Given the description of an element on the screen output the (x, y) to click on. 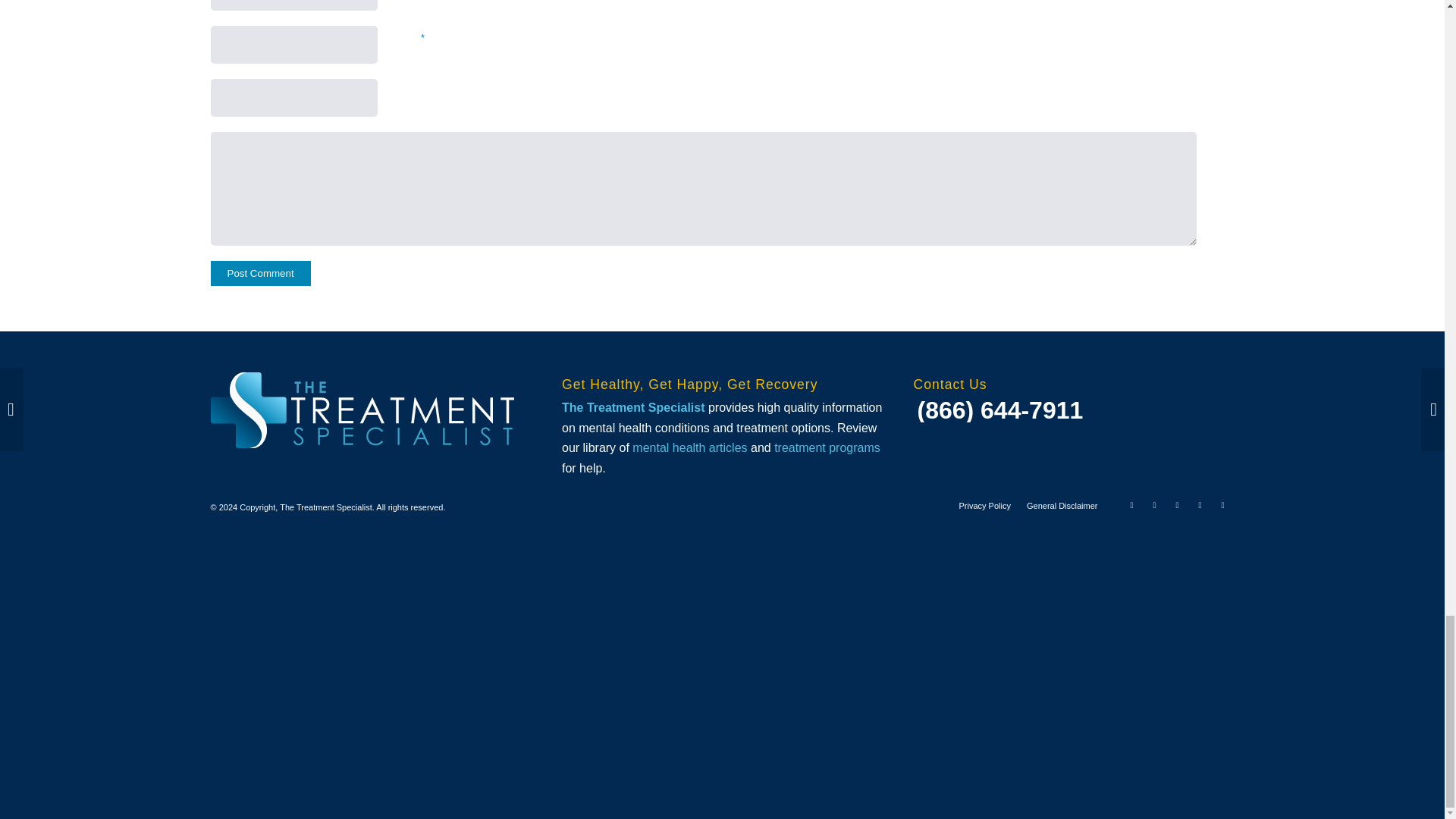
Post Comment (261, 273)
